Given the description of an element on the screen output the (x, y) to click on. 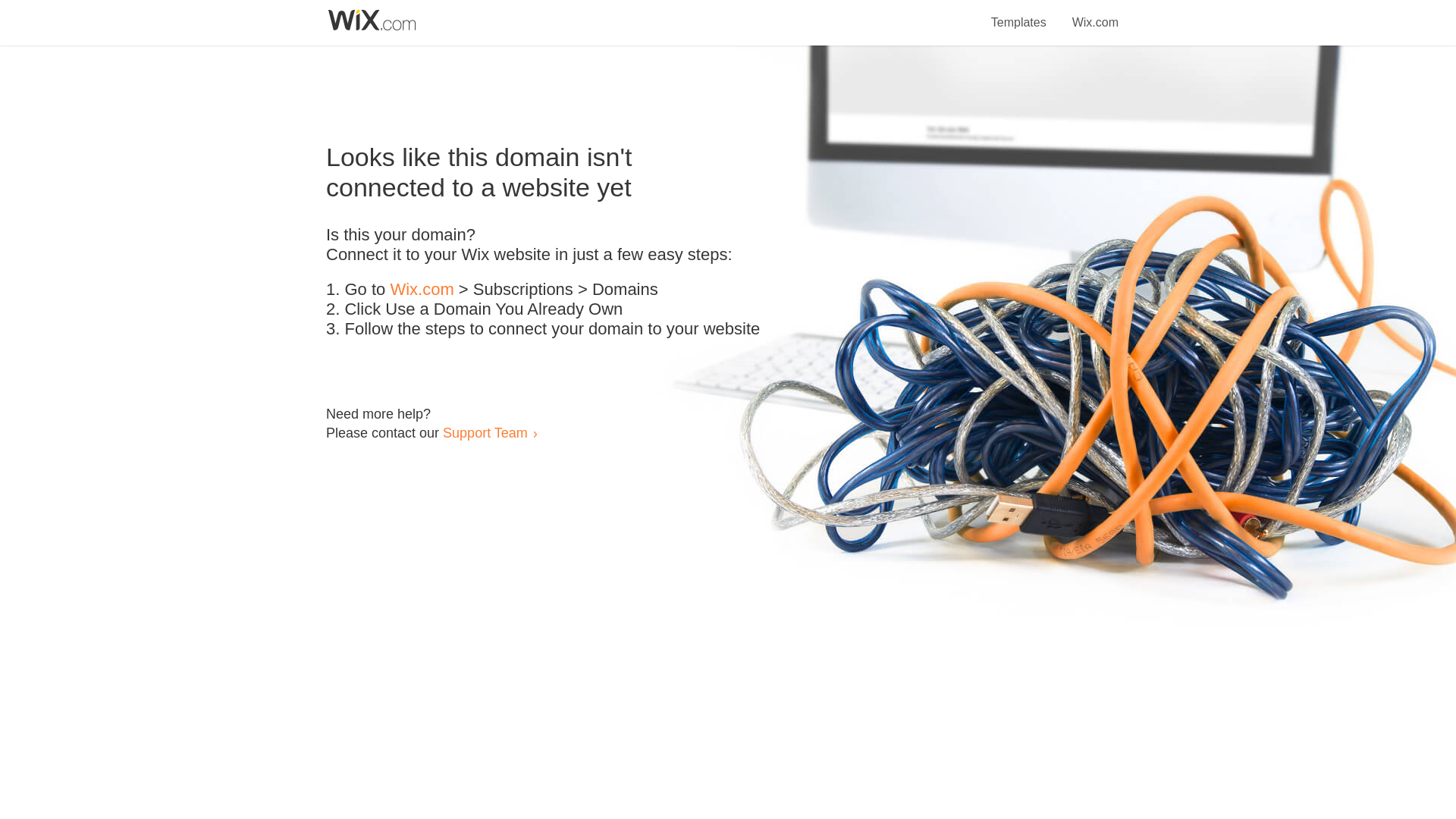
Wix.com (1095, 14)
Templates (1018, 14)
Support Team (484, 432)
Wix.com (421, 289)
